Given the description of an element on the screen output the (x, y) to click on. 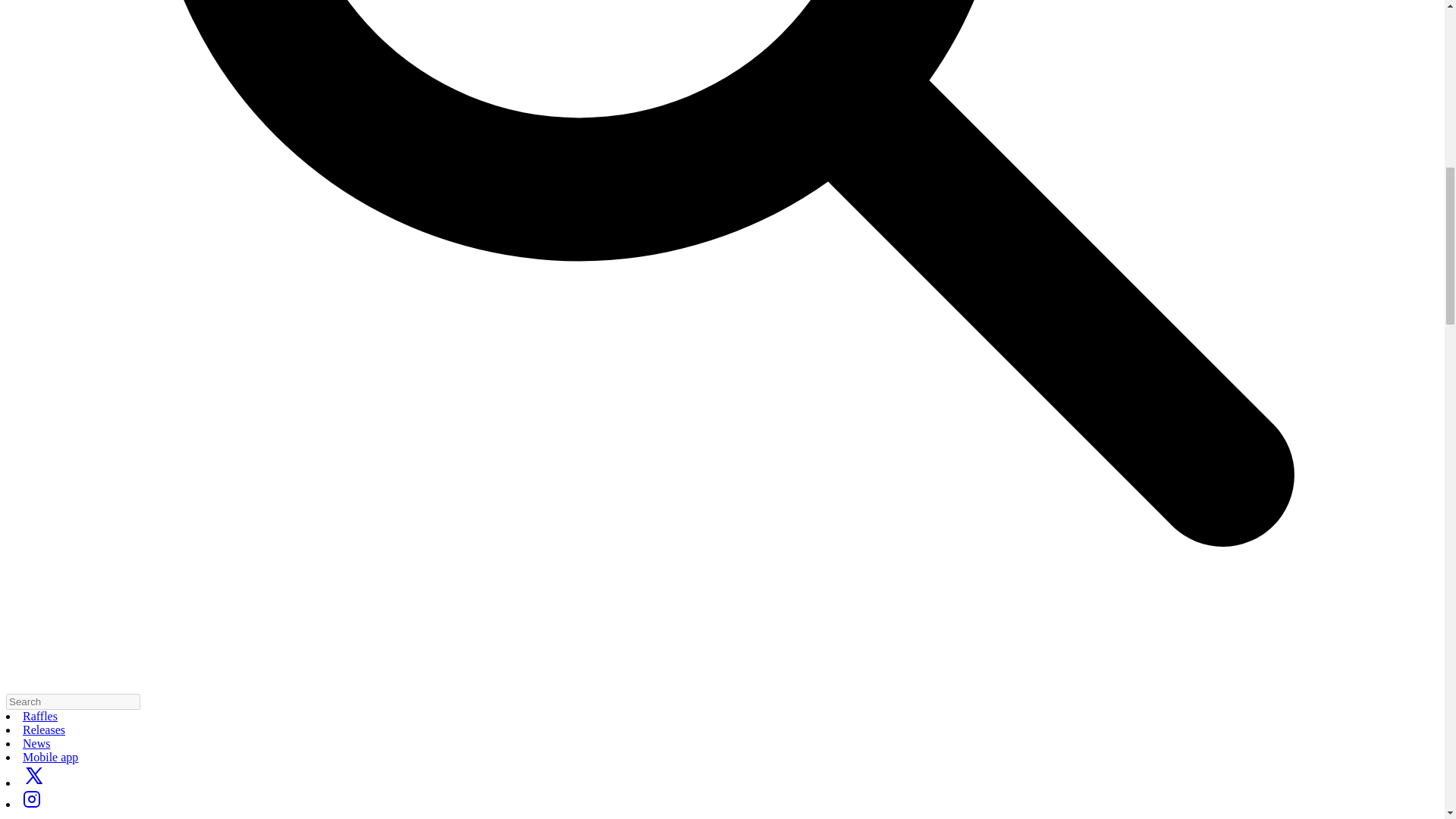
Releases (44, 729)
Raffles (40, 716)
Mobile app (50, 757)
News (36, 743)
